Given the description of an element on the screen output the (x, y) to click on. 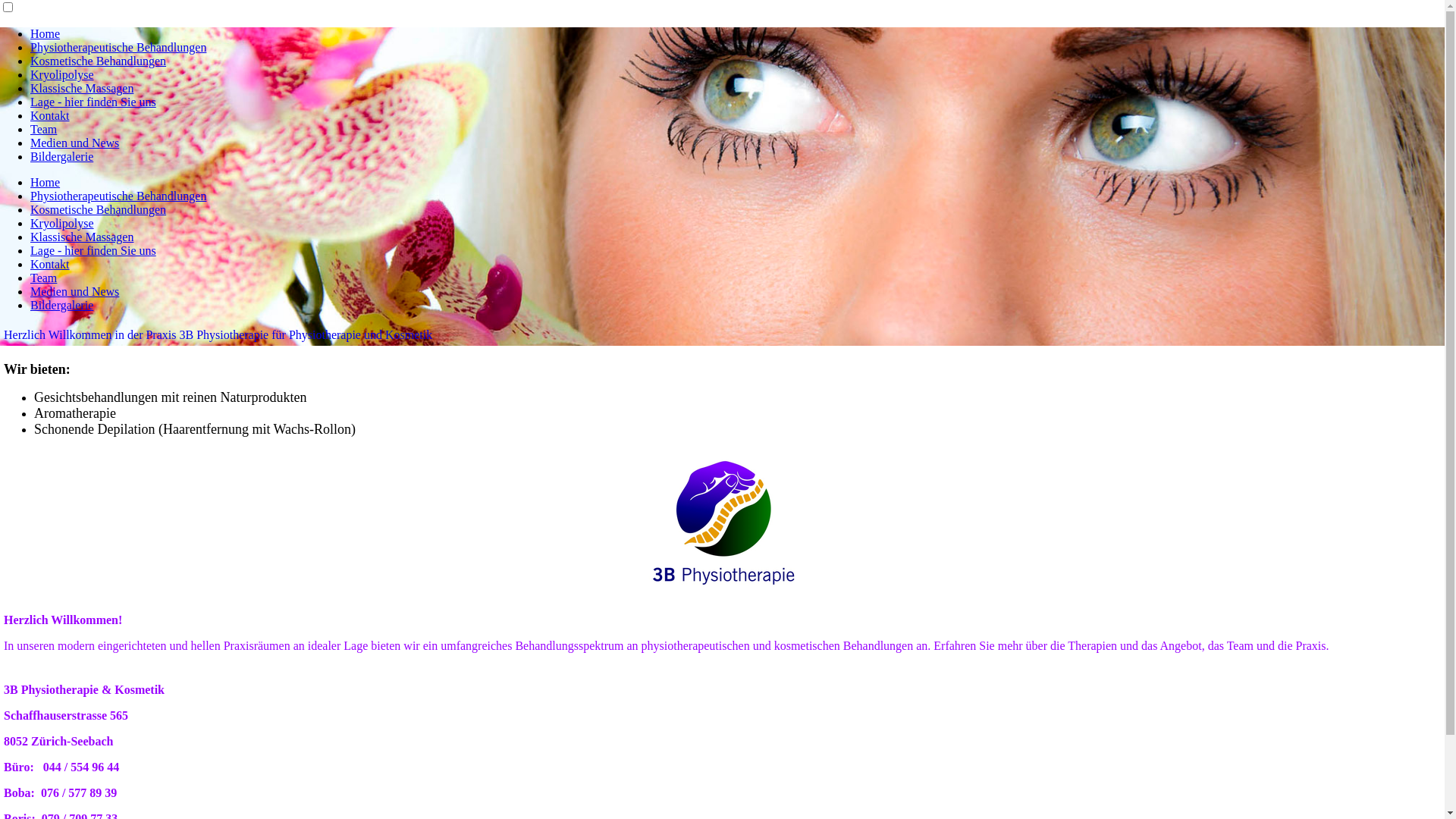
Kosmetische Behandlungen Element type: text (98, 209)
Kontakt Element type: text (49, 263)
Home Element type: text (44, 181)
Bildergalerie Element type: text (61, 304)
Kryolipolyse Element type: text (62, 74)
Klassische Massagen Element type: text (81, 87)
Physiotherapeutische Behandlungen Element type: text (118, 46)
Home Element type: text (44, 33)
Kryolipolyse Element type: text (62, 222)
Team Element type: text (43, 128)
Medien und News Element type: text (74, 291)
Bildergalerie Element type: text (61, 156)
Klassische Massagen Element type: text (81, 236)
Kosmetische Behandlungen Element type: text (98, 60)
Lage - hier finden Sie uns Element type: text (93, 101)
Kontakt Element type: text (49, 115)
Physiotherapeutische Behandlungen Element type: text (118, 195)
Lage - hier finden Sie uns Element type: text (93, 250)
Team Element type: text (43, 277)
Medien und News Element type: text (74, 142)
